Given the description of an element on the screen output the (x, y) to click on. 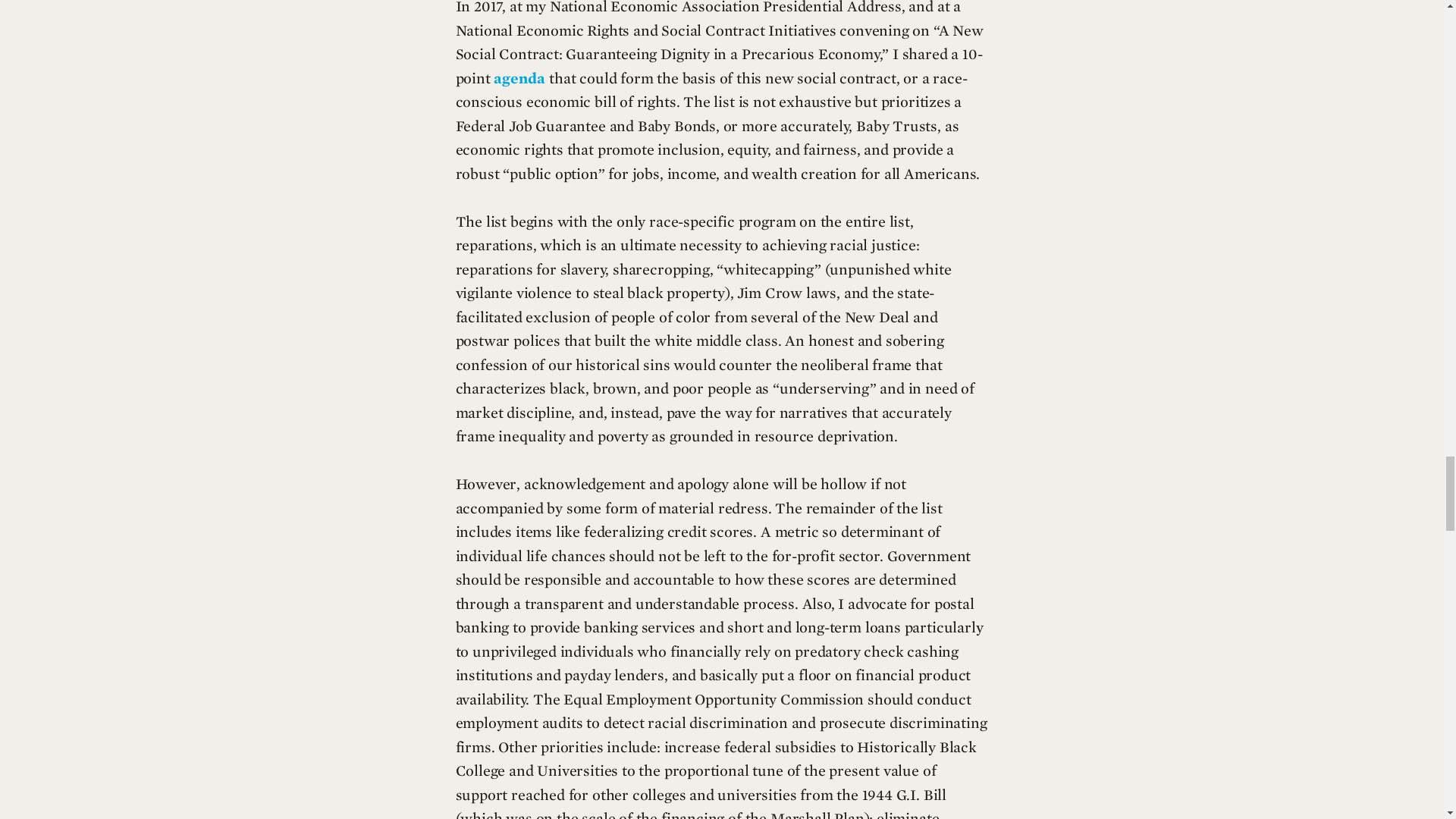
agenda (518, 79)
